Given the description of an element on the screen output the (x, y) to click on. 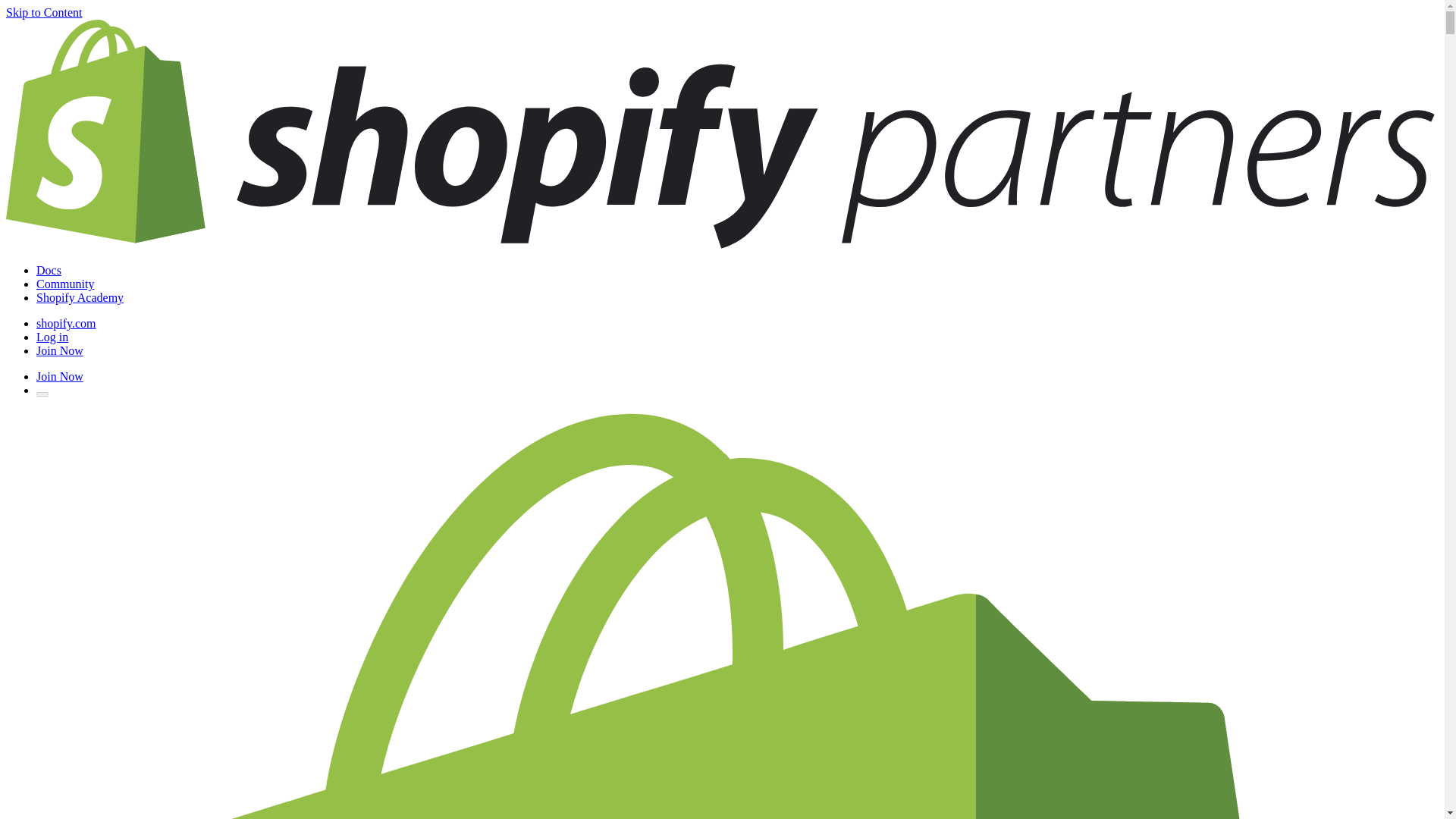
Shopify Academy (79, 297)
Community (65, 283)
shopify.com (66, 323)
Join Now (59, 376)
Log in (52, 336)
Skip to Content (43, 11)
Join Now (59, 350)
Docs (48, 269)
